Given the description of an element on the screen output the (x, y) to click on. 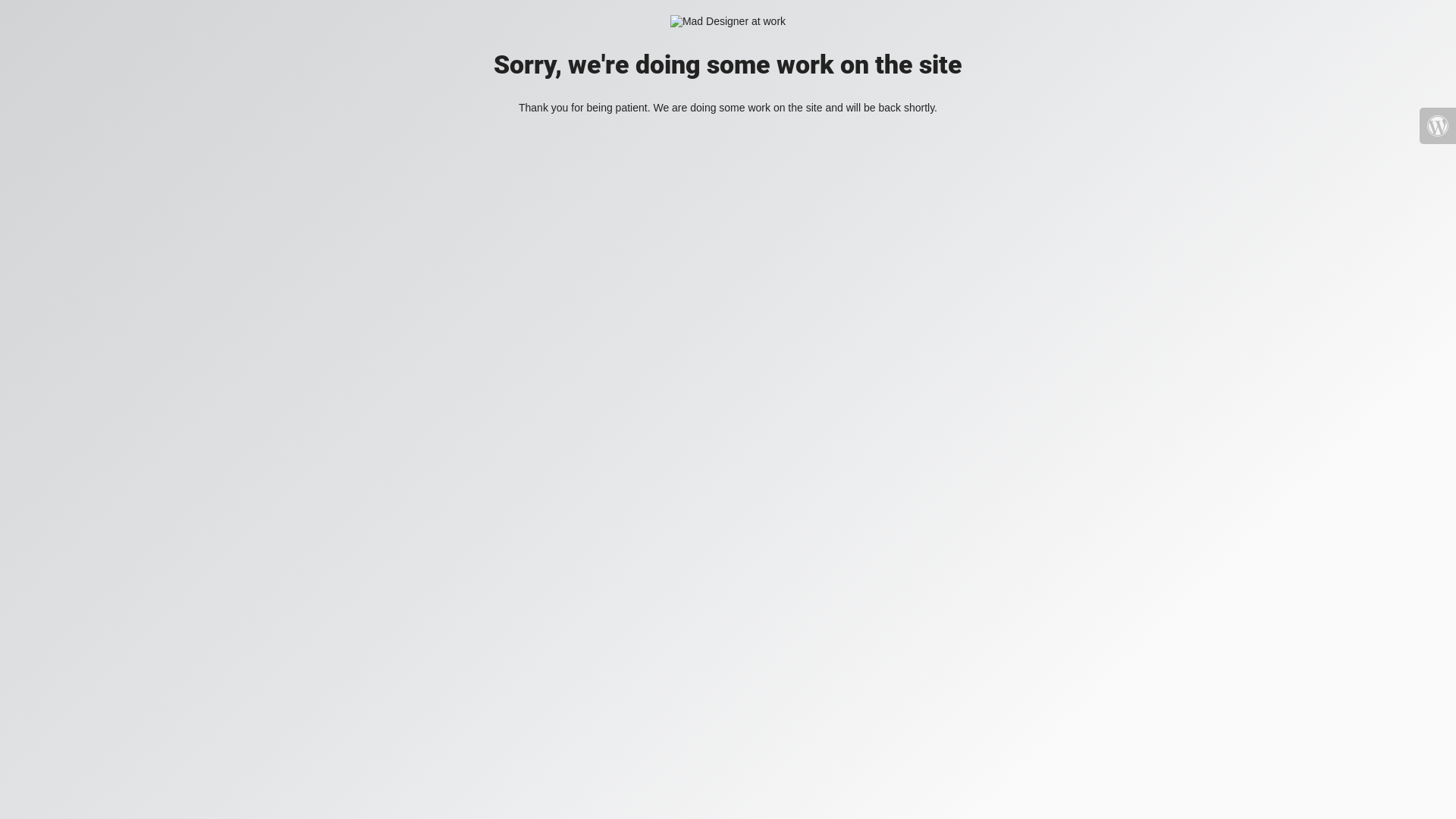
Mad Designer at work Element type: hover (727, 21)
